Given the description of an element on the screen output the (x, y) to click on. 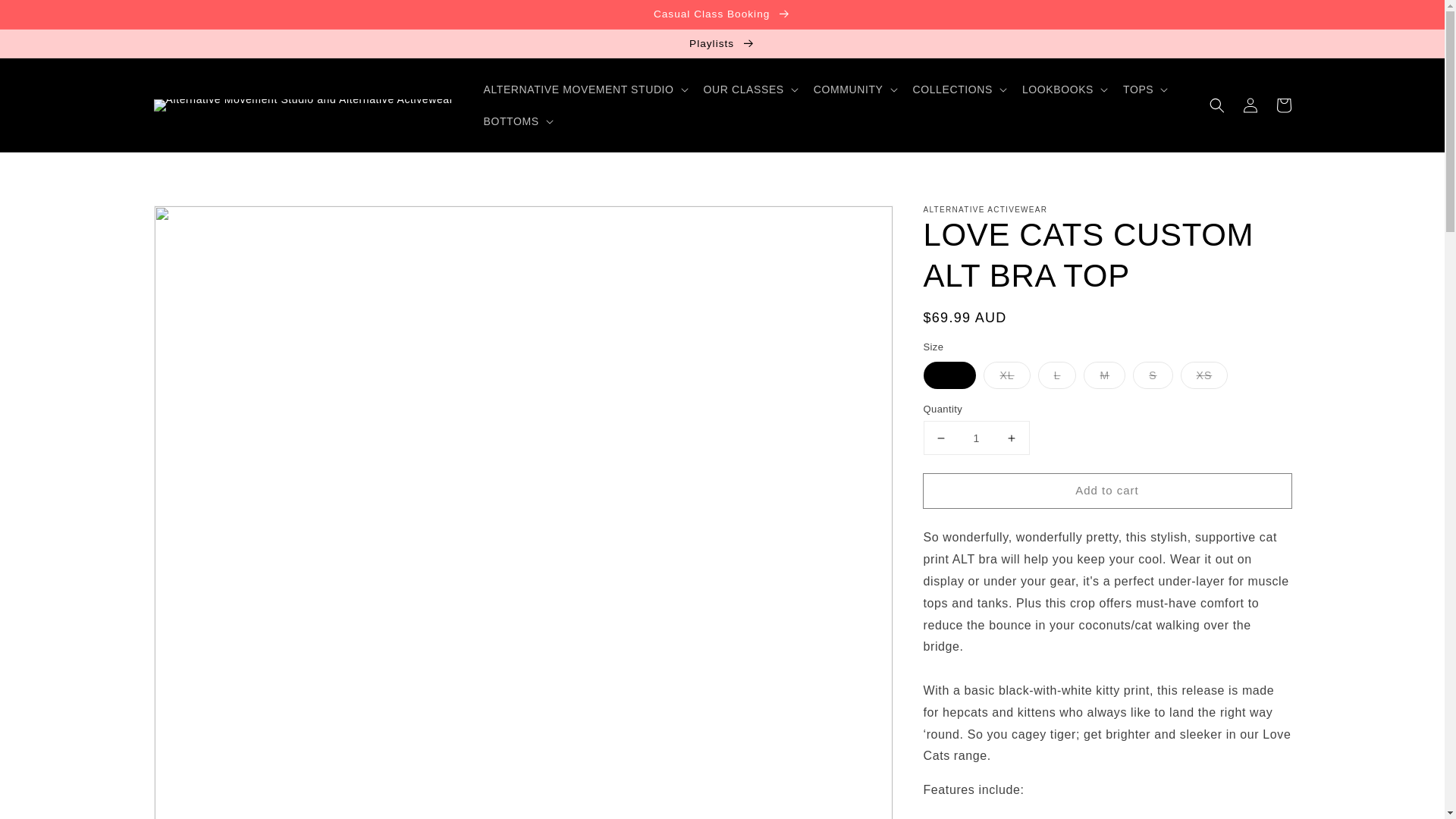
Skip to content (45, 16)
1 (976, 437)
